Given the description of an element on the screen output the (x, y) to click on. 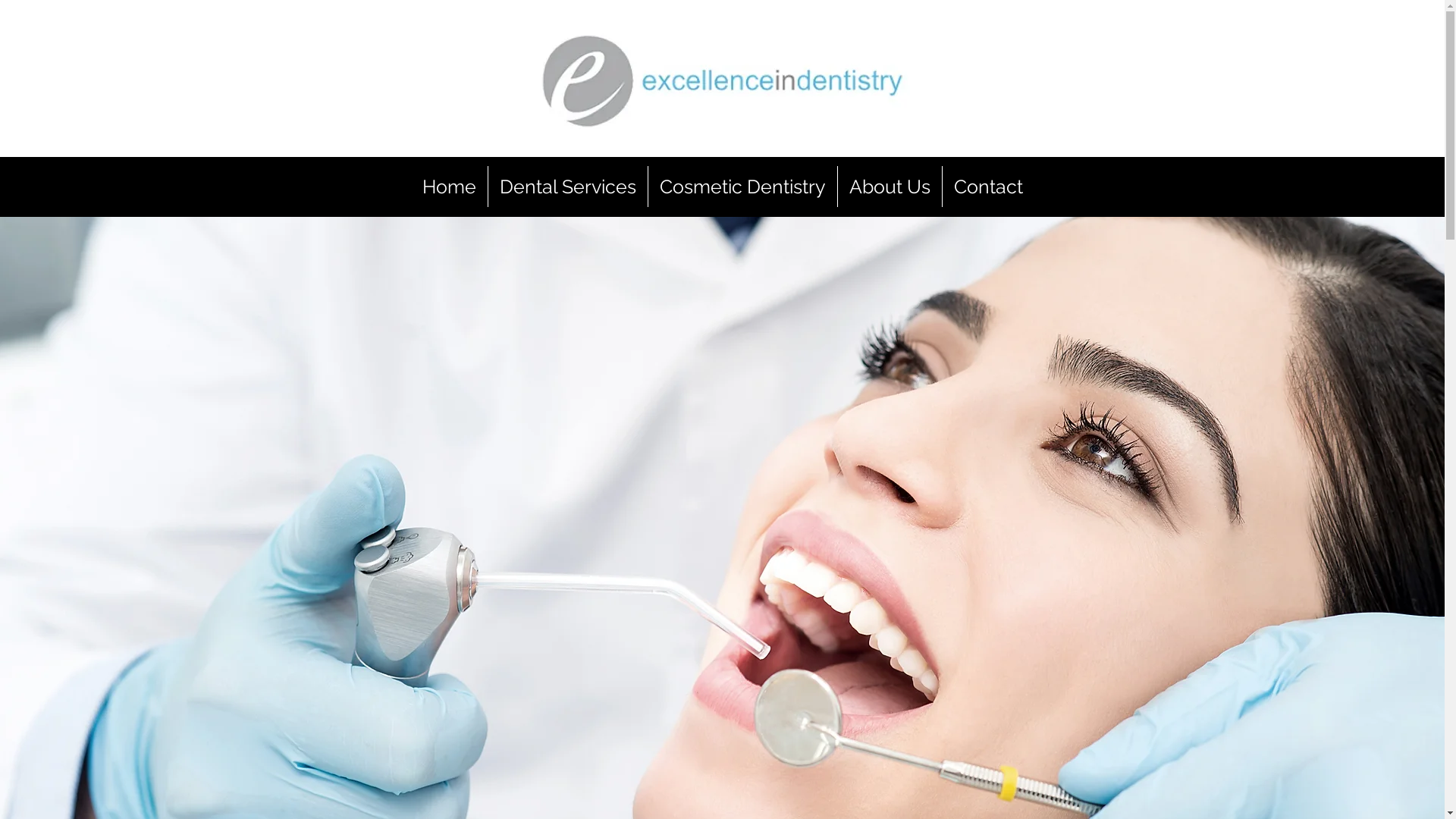
Contact Element type: text (988, 186)
About Us Element type: text (889, 186)
Home Element type: text (449, 186)
Cosmetic Dentistry Element type: text (742, 186)
Dental Services Element type: text (567, 186)
